Given the description of an element on the screen output the (x, y) to click on. 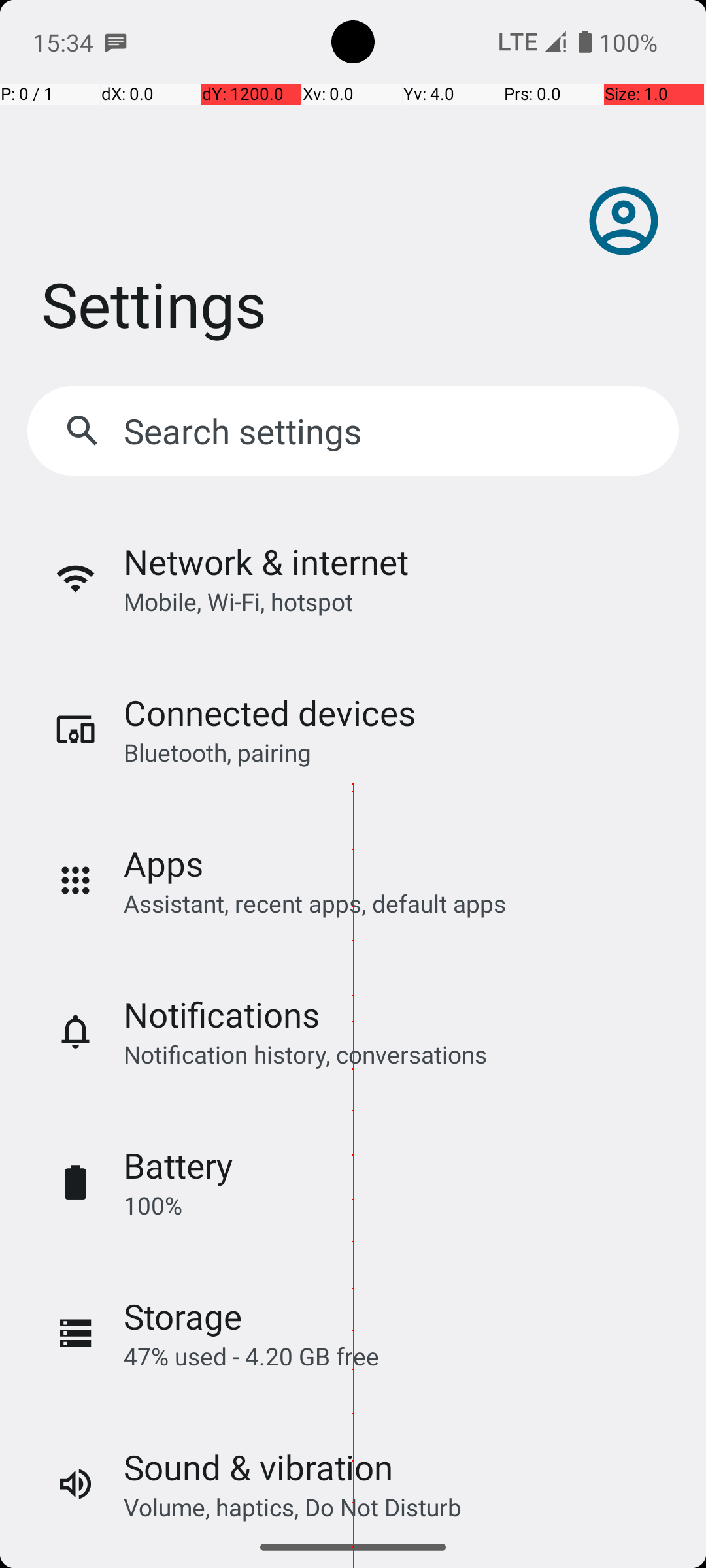
47% used - 4.20 GB free Element type: android.widget.TextView (251, 1355)
